Given the description of an element on the screen output the (x, y) to click on. 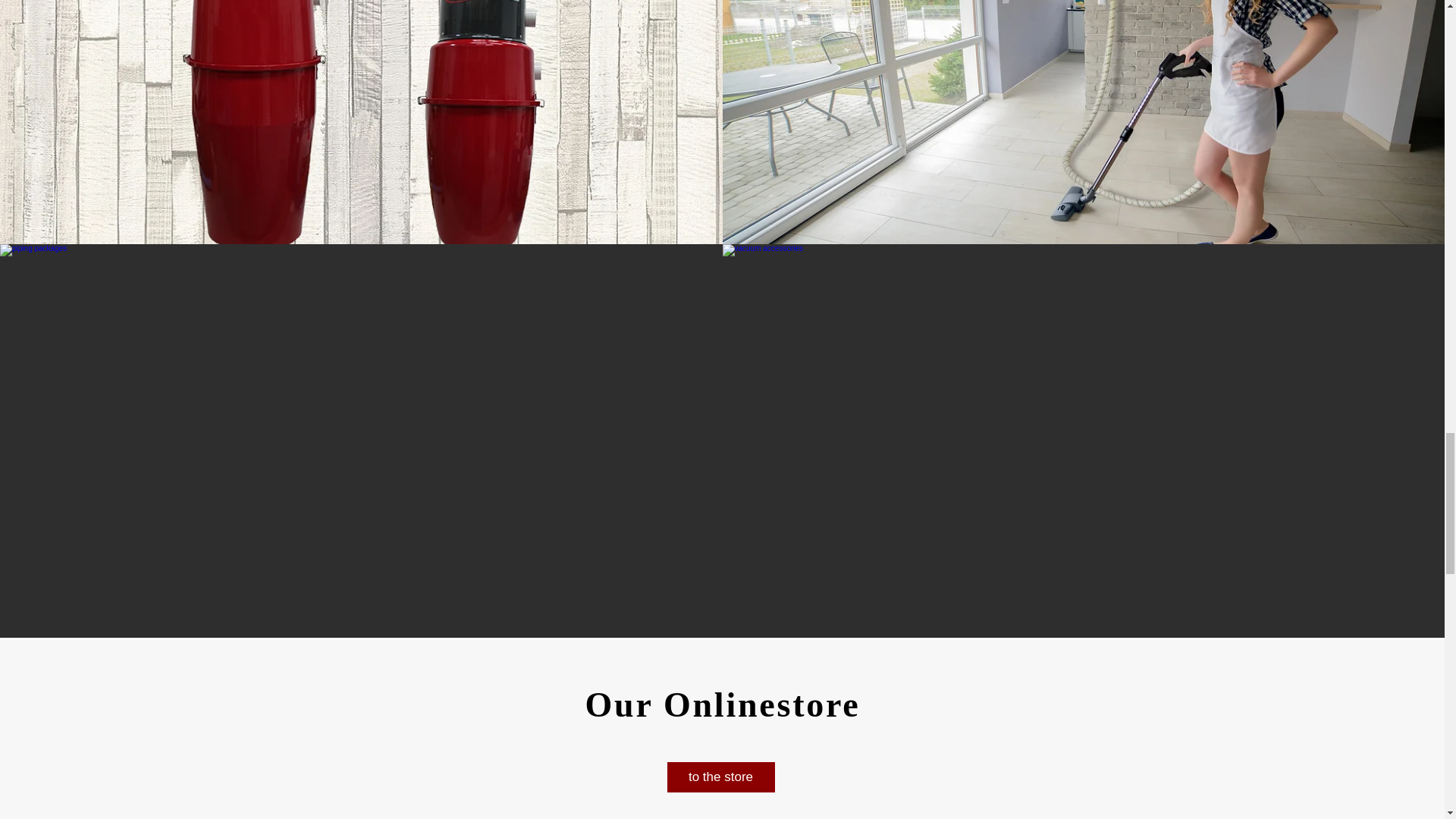
Our Onlinestore (722, 704)
to the store (720, 777)
